Given the description of an element on the screen output the (x, y) to click on. 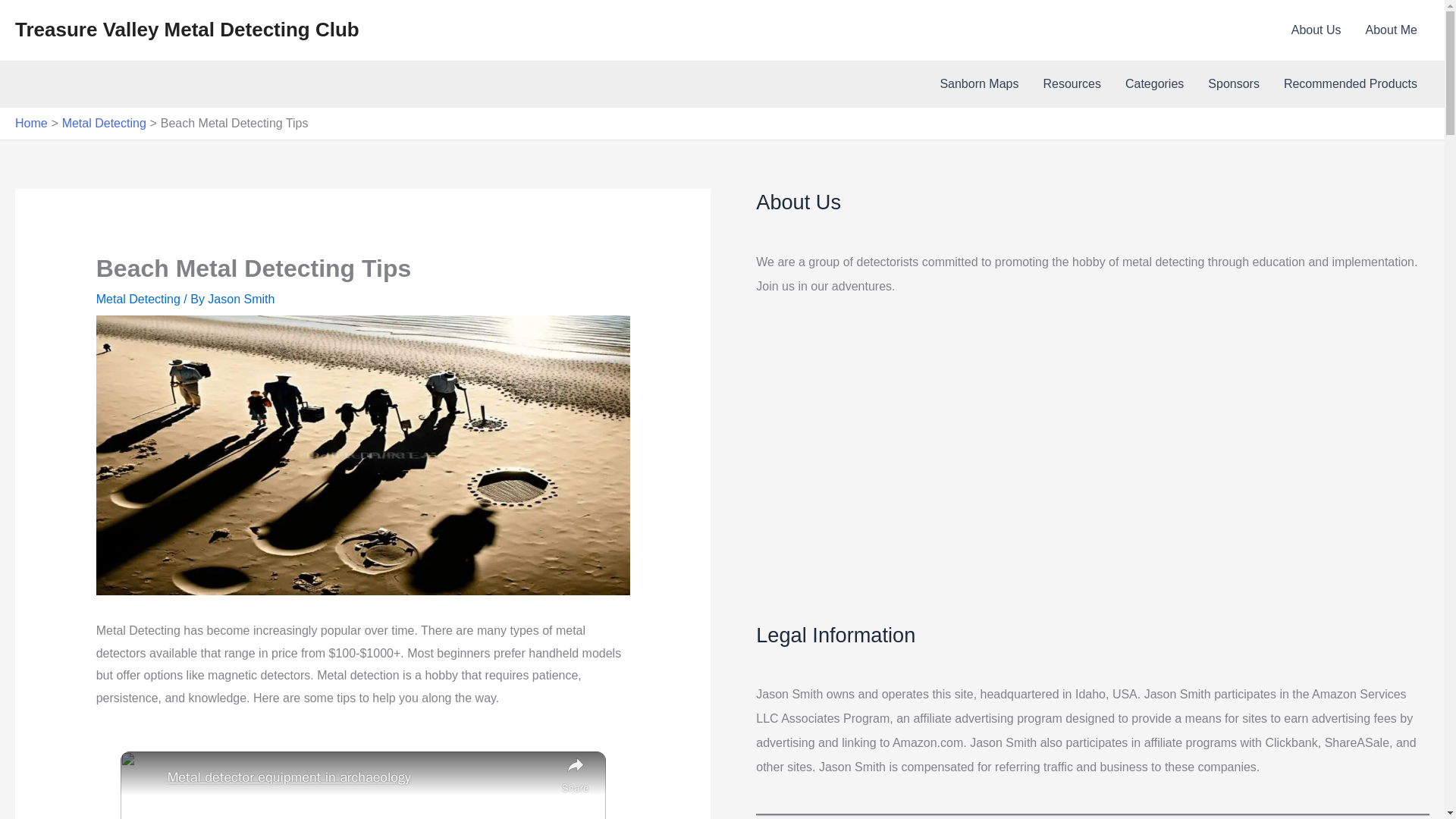
Treasure Valley Metal Detecting Club (186, 29)
Categories (1154, 84)
Jason Smith (241, 298)
Resources (1071, 84)
Sponsors (1233, 84)
Metal Detecting (104, 123)
Metal Detecting (138, 298)
About Us (1316, 30)
About Me (1391, 30)
Recommended Products (1350, 84)
